Given the description of an element on the screen output the (x, y) to click on. 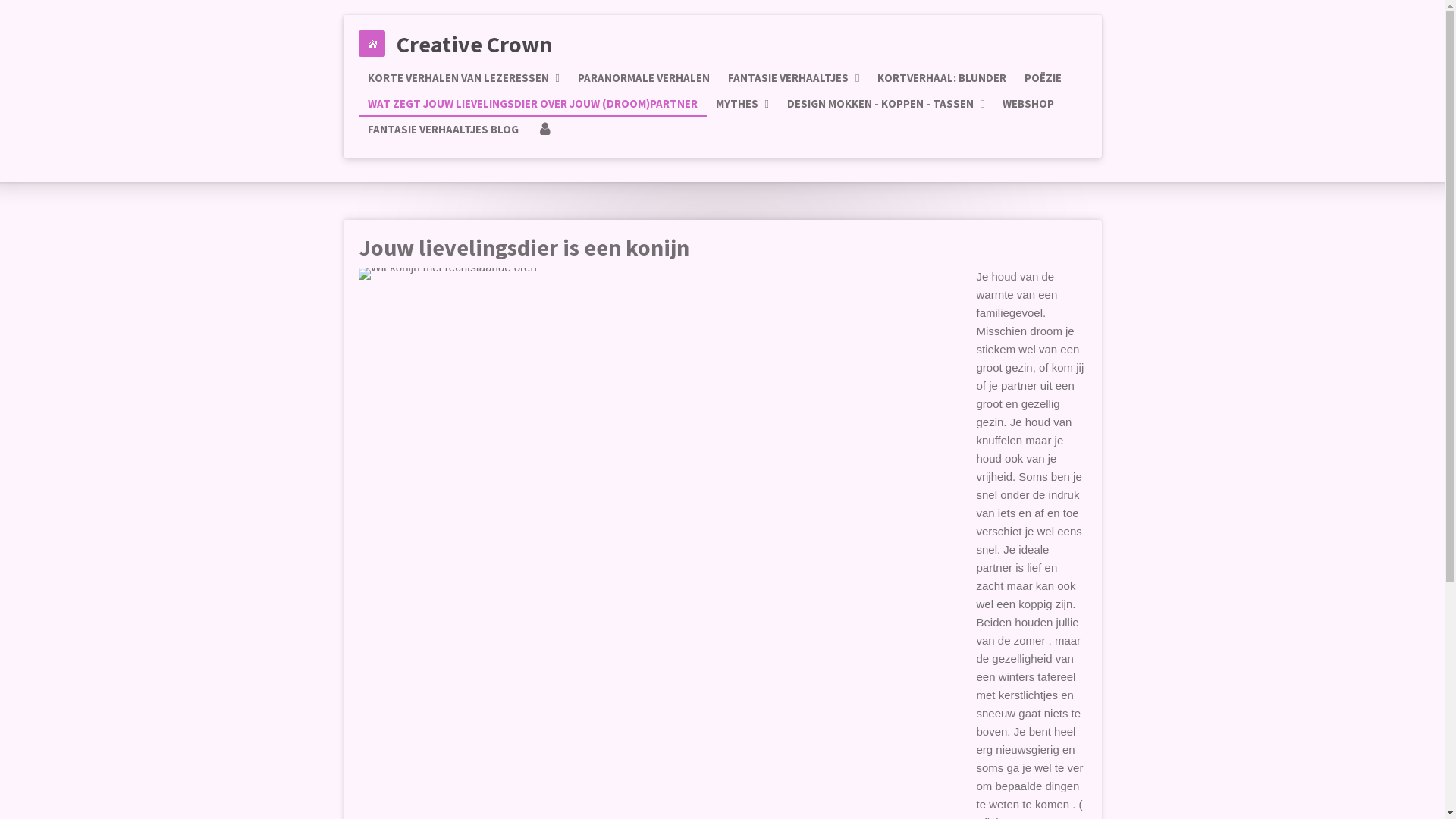
MYTHES Element type: text (742, 103)
PARANORMALE VERHALEN Element type: text (643, 78)
Account Element type: hover (544, 129)
WEBSHOP Element type: text (1028, 103)
KORTVERHAAL: BLUNDER Element type: text (941, 78)
KORTE VERHALEN VAN LEZERESSEN Element type: text (462, 78)
FANTASIE VERHAALTJES Element type: text (793, 78)
WAT ZEGT JOUW LIEVELINGSDIER OVER JOUW (DROOM)PARTNER Element type: text (531, 103)
Creative Crown Element type: text (473, 42)
FANTASIE VERHAALTJES BLOG Element type: text (442, 129)
DESIGN MOKKEN - KOPPEN - TASSEN Element type: text (885, 103)
